Given the description of an element on the screen output the (x, y) to click on. 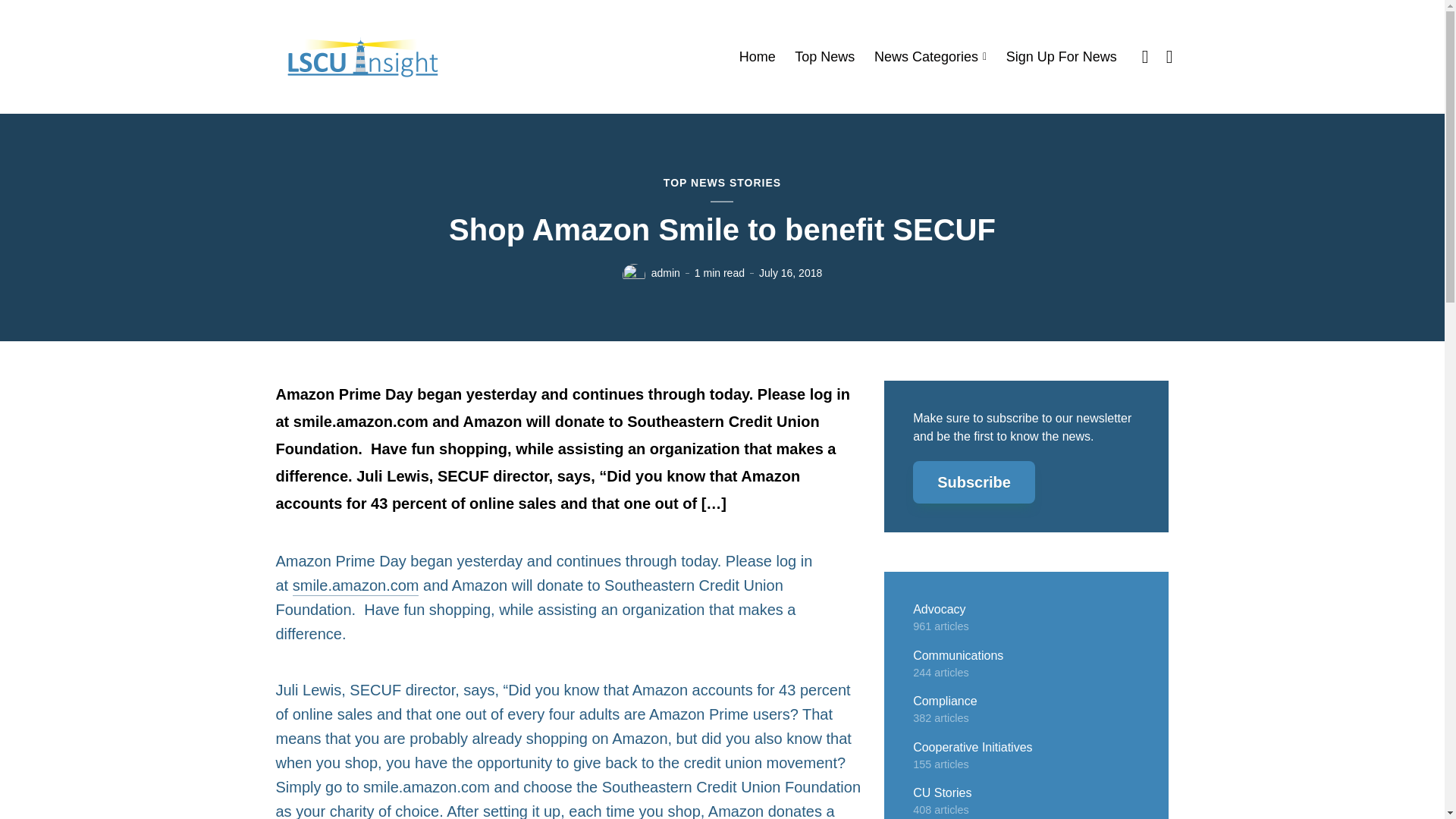
Home (757, 56)
TOP NEWS STORIES (721, 183)
Top News (824, 56)
Sign Up For News (1061, 56)
News Categories (931, 56)
admin (664, 272)
